Given the description of an element on the screen output the (x, y) to click on. 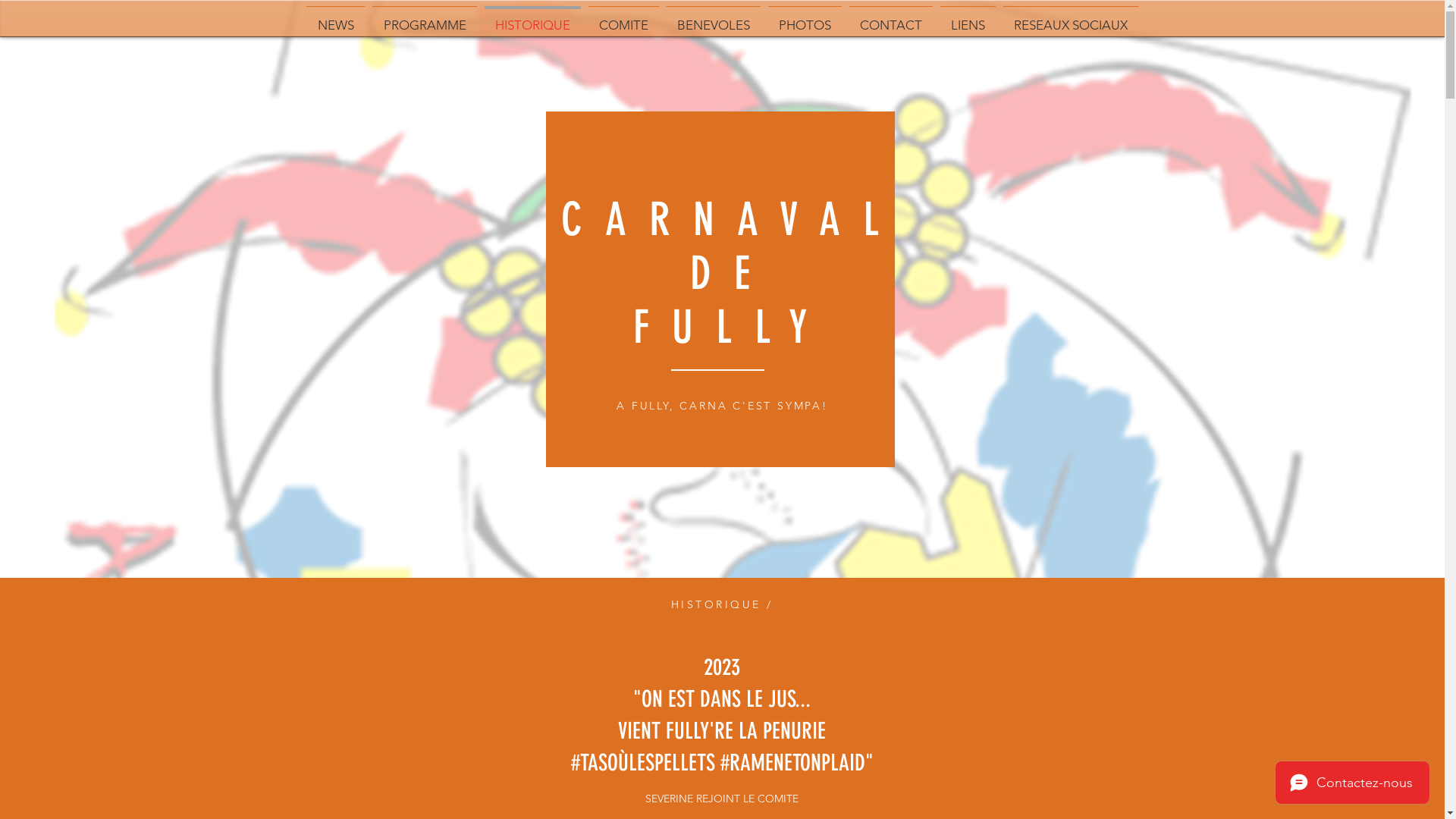
RESEAUX SOCIAUX Element type: text (1070, 18)
BENEVOLES Element type: text (713, 18)
HISTORIQUE Element type: text (532, 18)
LIENS Element type: text (967, 18)
NEWS Element type: text (335, 18)
COMITE Element type: text (623, 18)
PHOTOS Element type: text (804, 18)
CONTACT Element type: text (890, 18)
PROGRAMME Element type: text (424, 18)
